Given the description of an element on the screen output the (x, y) to click on. 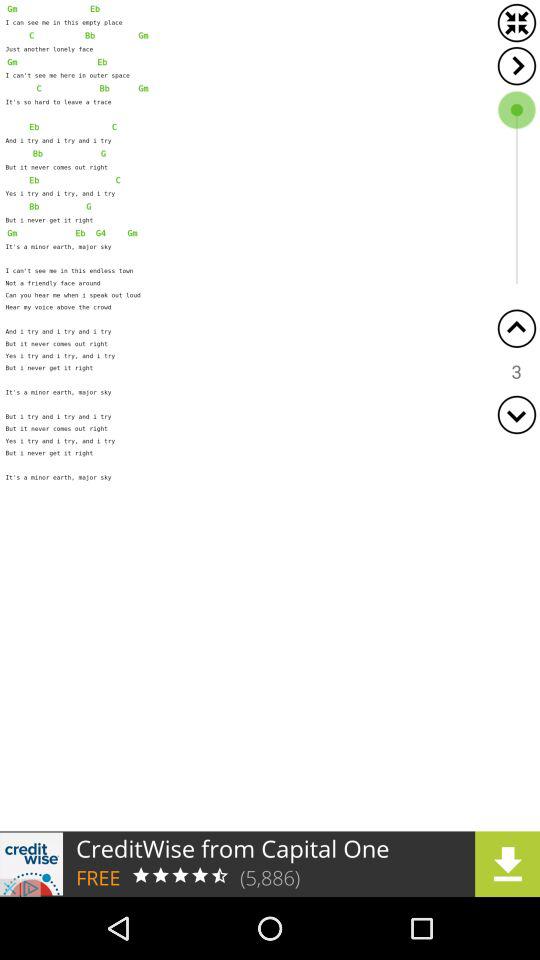
scroll up (516, 328)
